Given the description of an element on the screen output the (x, y) to click on. 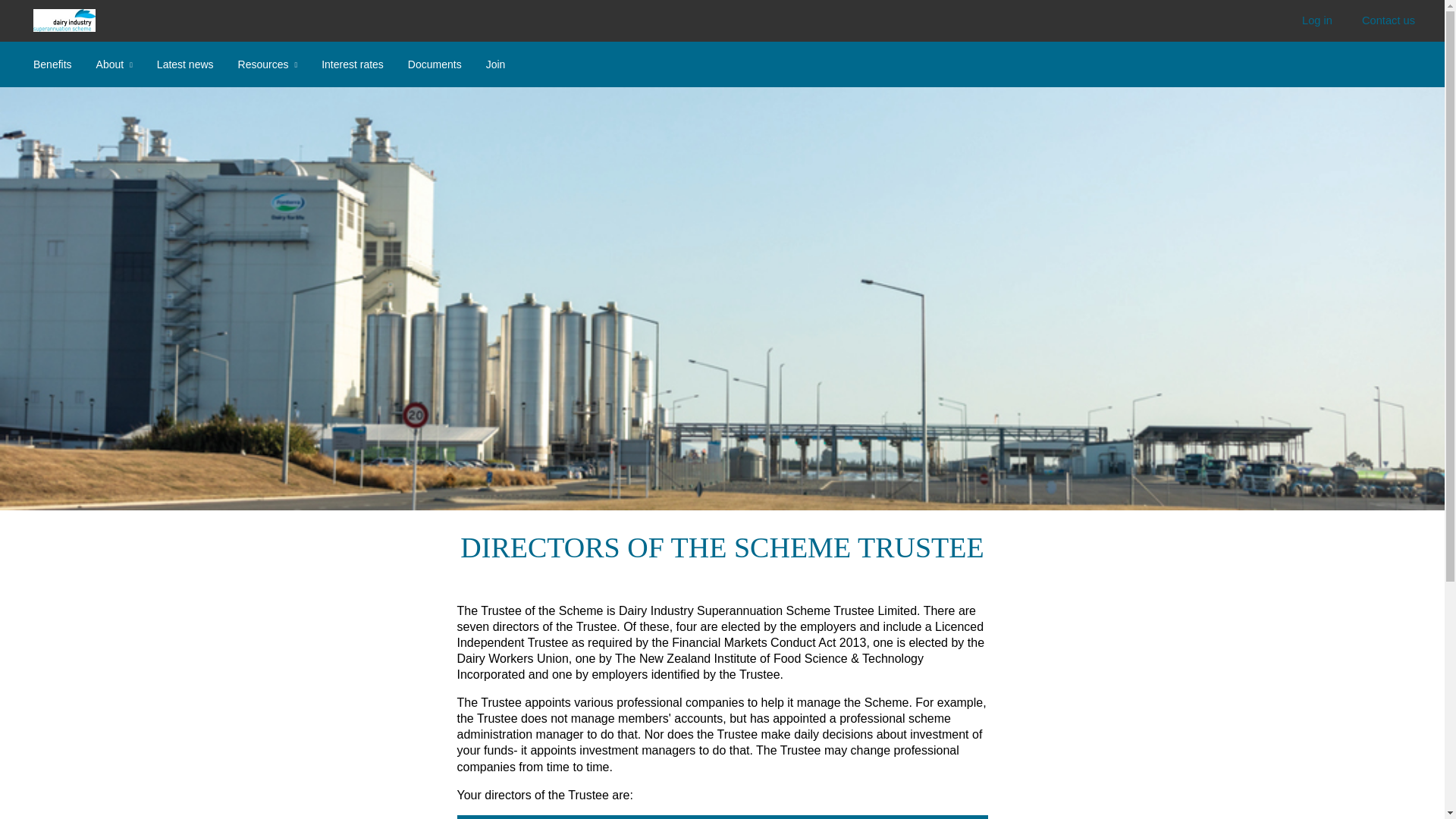
Log in (1316, 20)
Dairy Industry Super Scheme (64, 20)
Join (495, 64)
Documents (434, 64)
Contact us (1388, 20)
Resources (268, 64)
About (114, 64)
Benefits (52, 64)
Latest news (185, 64)
Interest rates (352, 64)
